Given the description of an element on the screen output the (x, y) to click on. 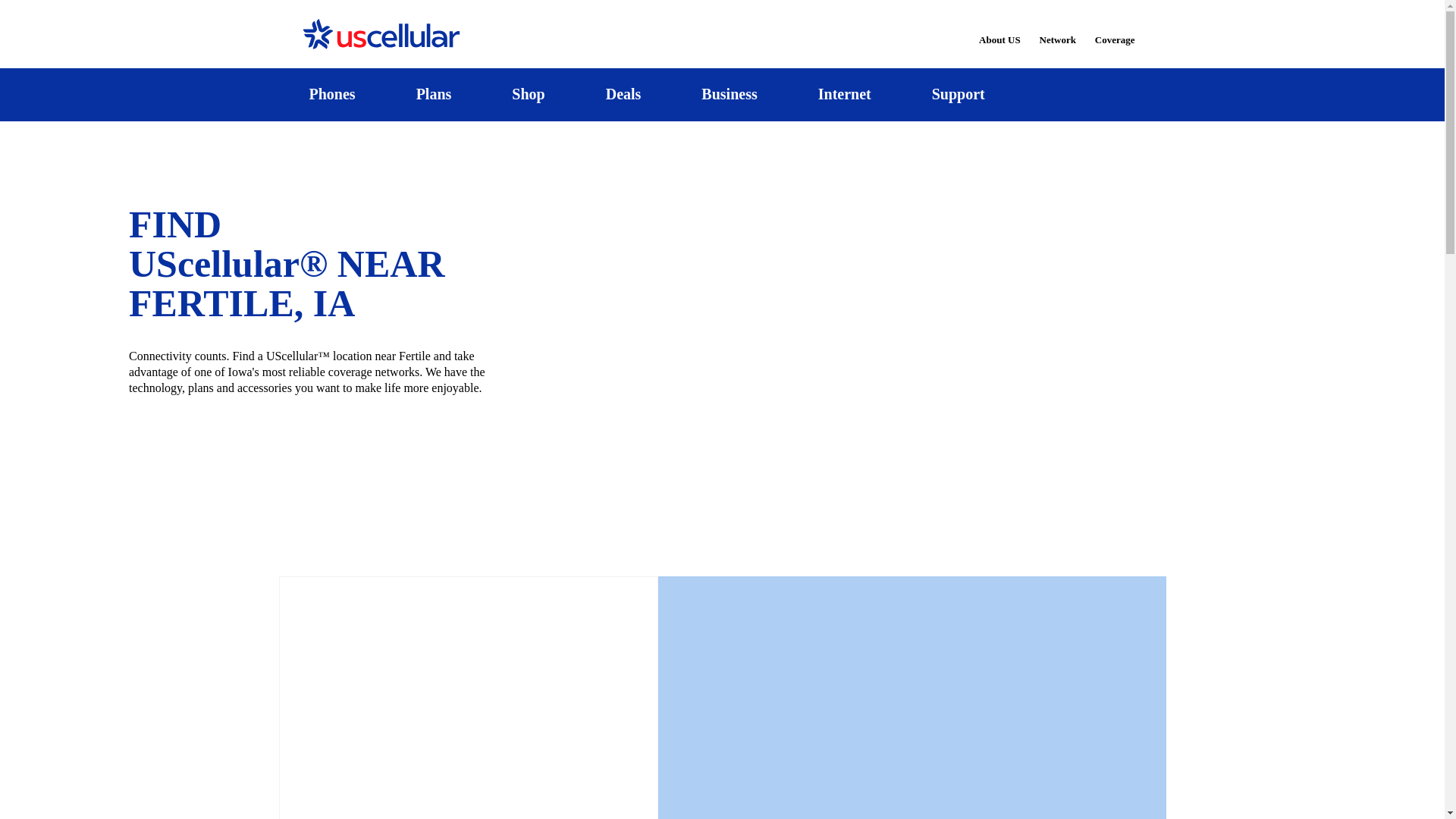
Support (957, 94)
Business (729, 94)
Network (1057, 30)
Phones (332, 94)
Internet (844, 94)
Coverage (1115, 29)
Deals (623, 94)
About US (999, 30)
Plans (433, 94)
Shop (528, 94)
